Given the description of an element on the screen output the (x, y) to click on. 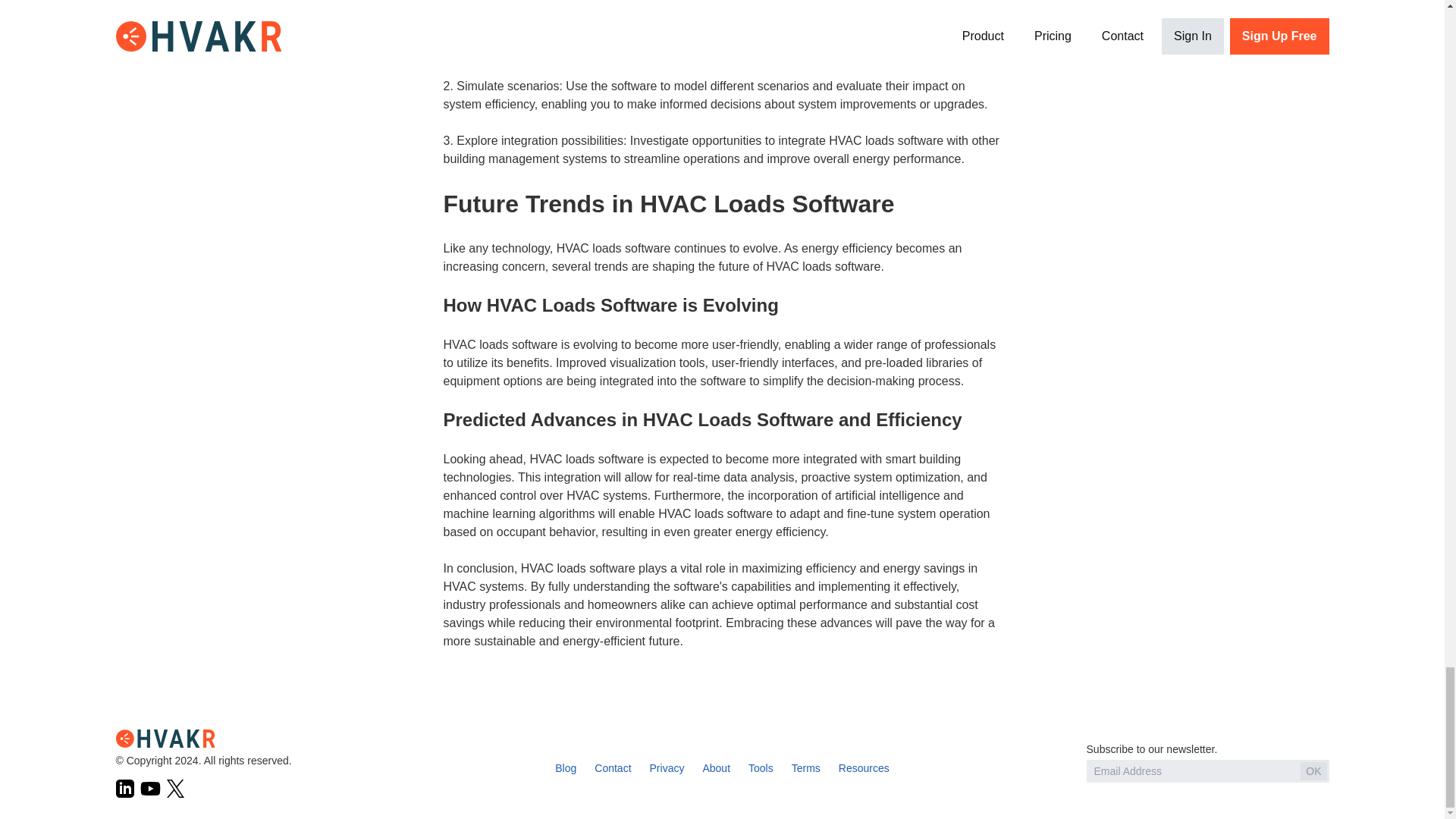
Privacy (666, 767)
Blog (565, 767)
About (715, 767)
Resources (863, 767)
Contact (612, 767)
OK (1313, 771)
Tools (760, 767)
Terms (806, 767)
